Given the description of an element on the screen output the (x, y) to click on. 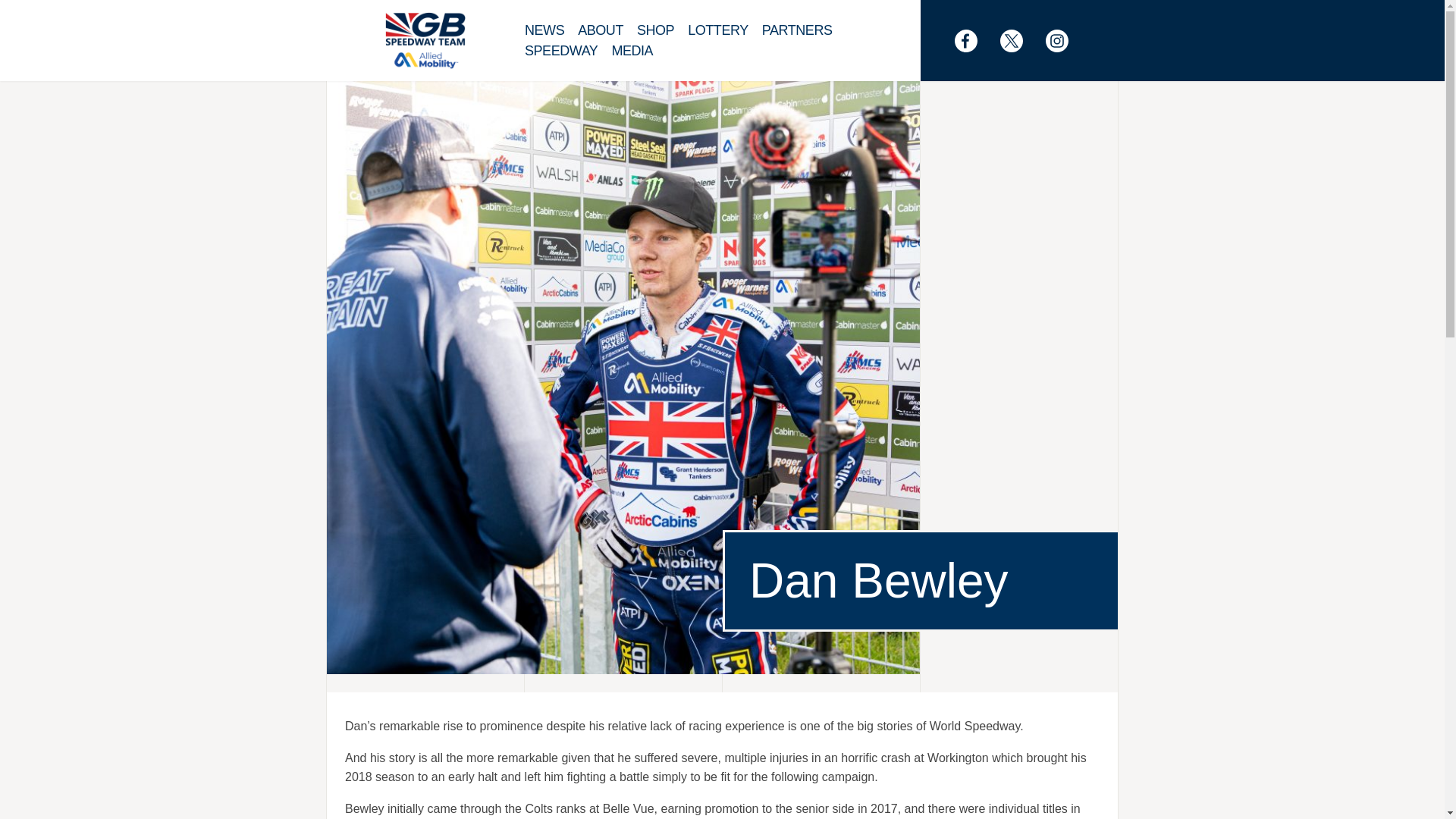
LOTTERY (724, 30)
Follow us on Instagram (1064, 40)
SHOP (662, 30)
PARTNERS (803, 30)
NEWS (551, 30)
Find us on Facebook (973, 40)
SPEEDWAY (567, 50)
MEDIA (638, 50)
ABOUT (607, 30)
Follow us on Twitter (1019, 40)
